Given the description of an element on the screen output the (x, y) to click on. 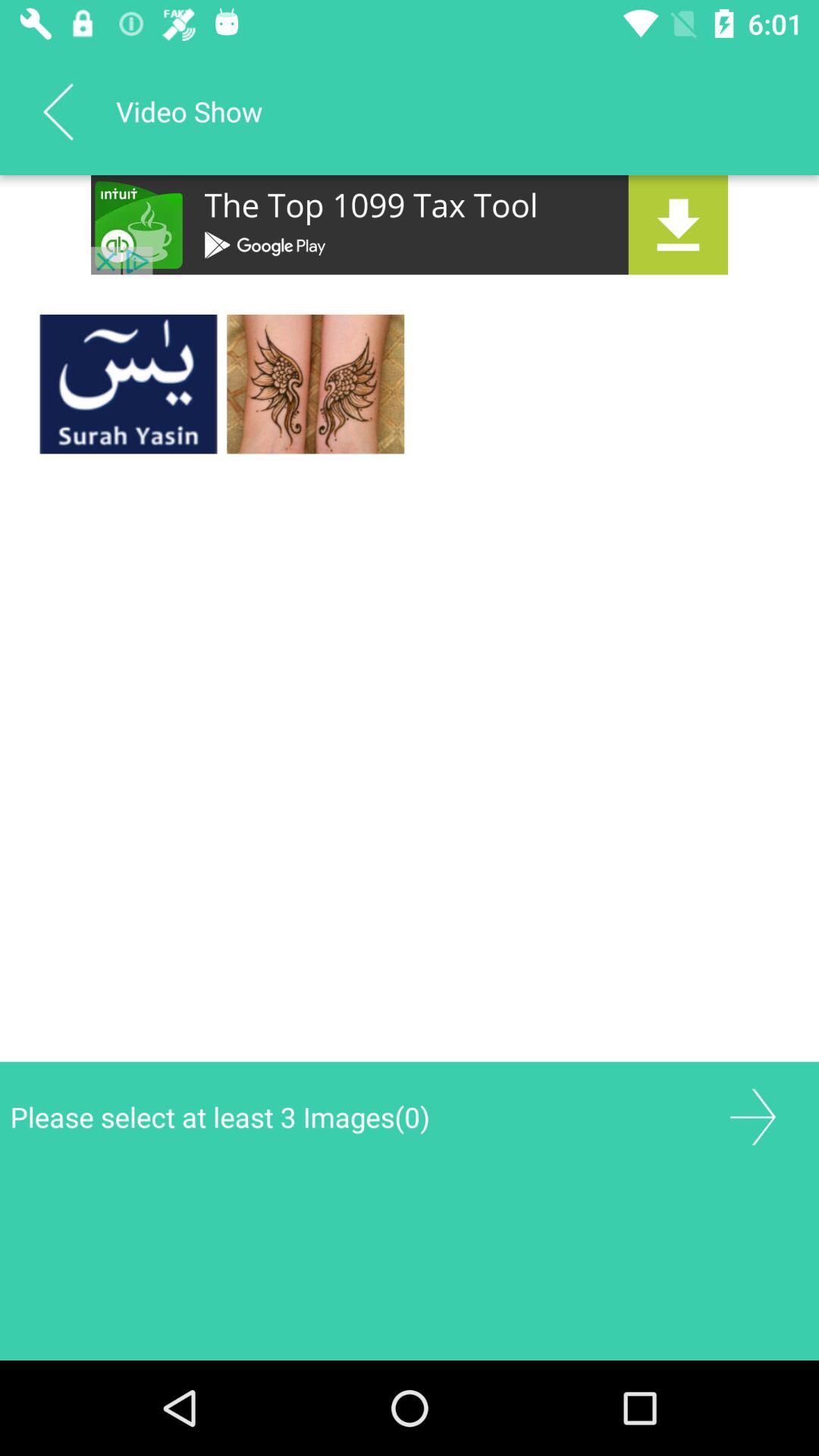
go back (57, 111)
